Given the description of an element on the screen output the (x, y) to click on. 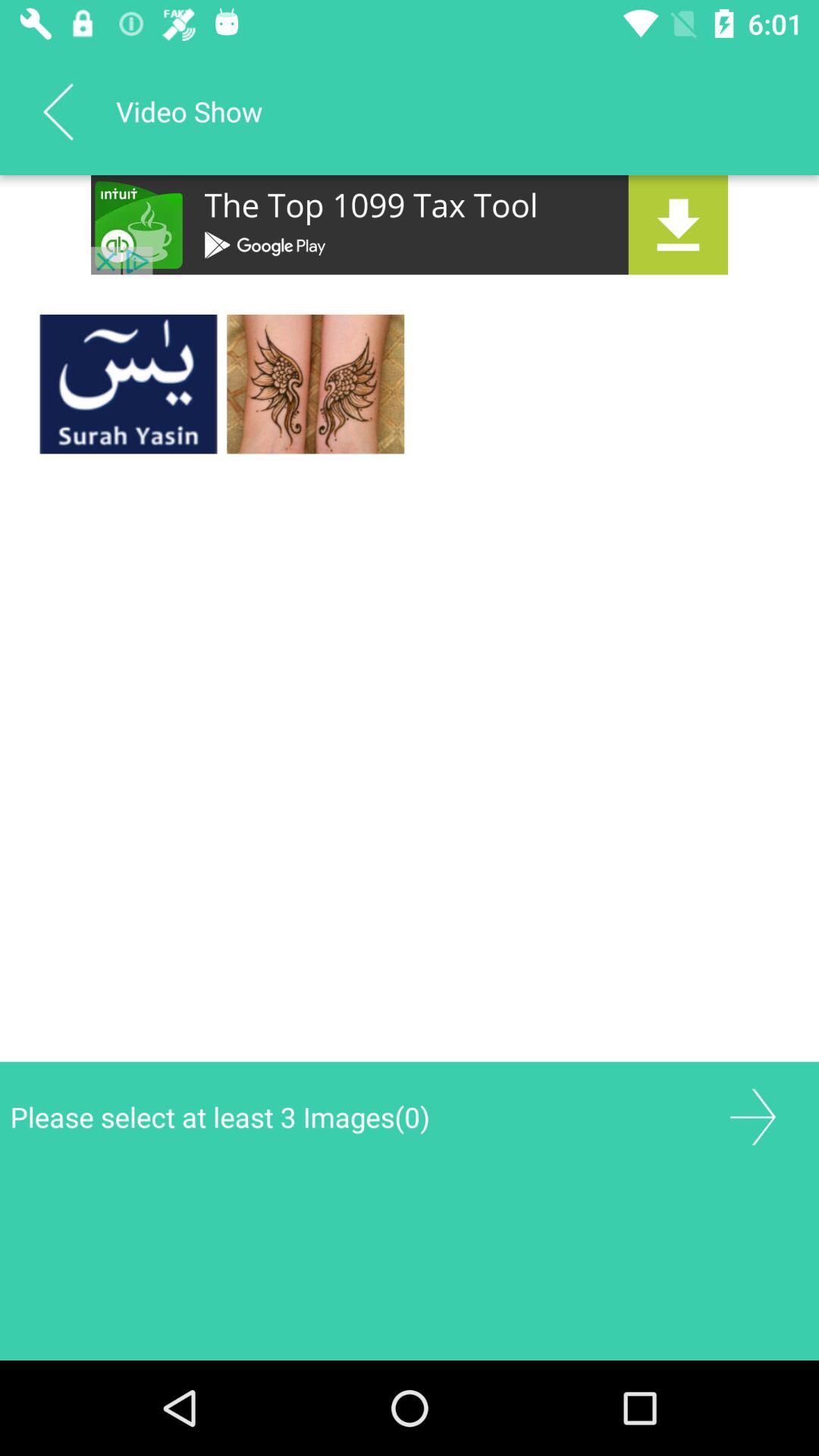
go back (57, 111)
